Given the description of an element on the screen output the (x, y) to click on. 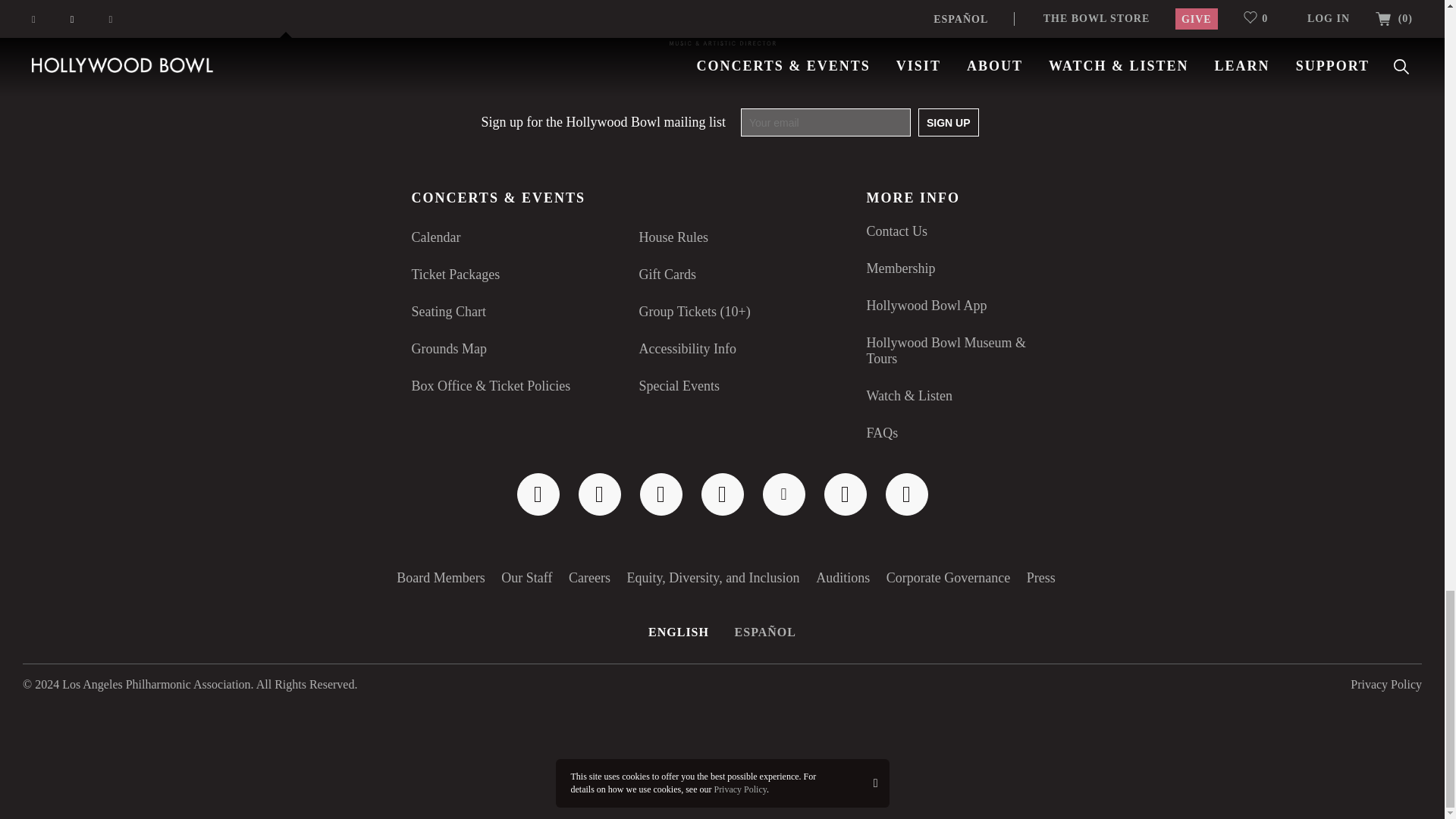
Sign Up (948, 122)
